Given the description of an element on the screen output the (x, y) to click on. 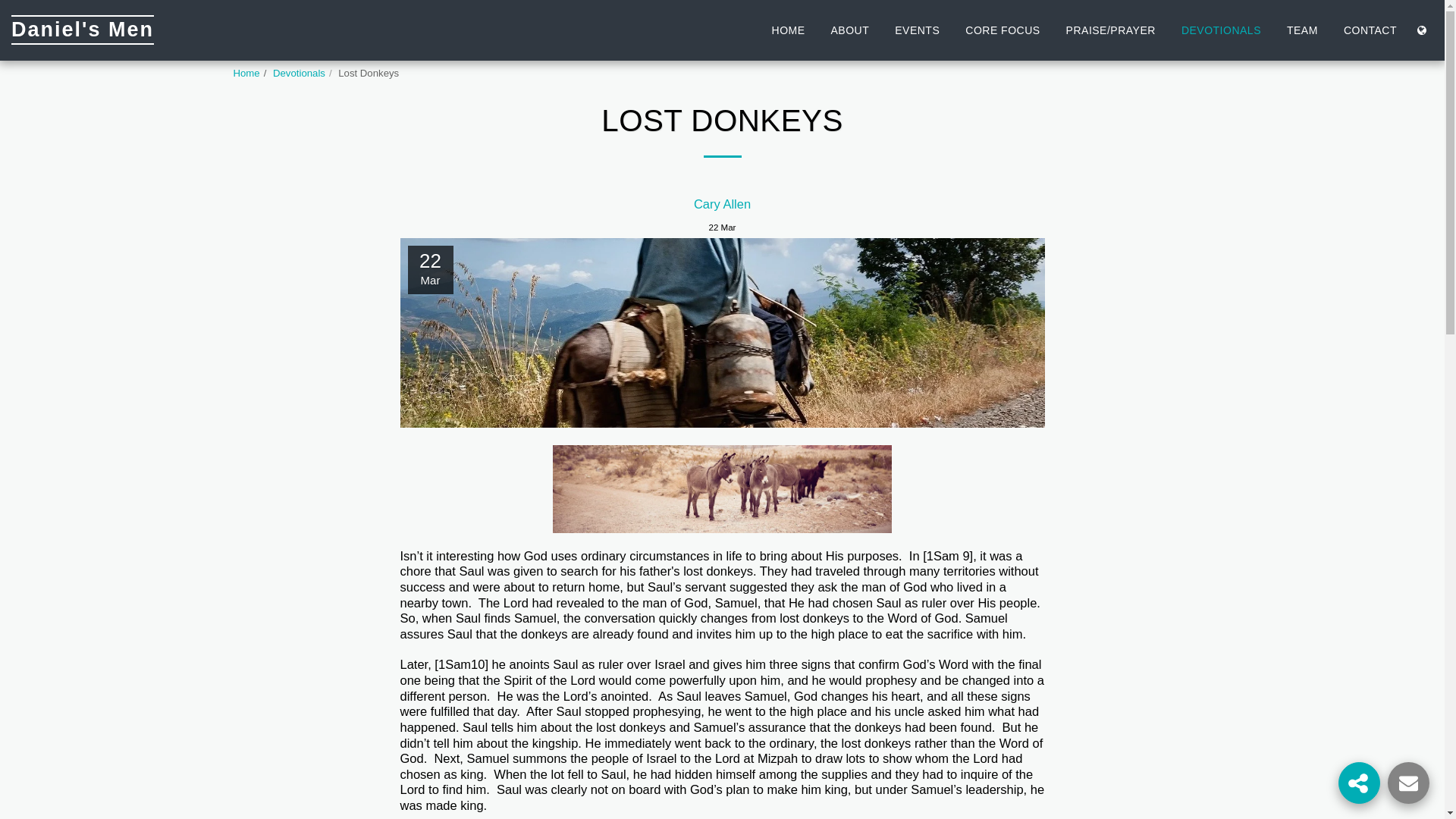
TEAM (1302, 29)
Daniel's Men (82, 30)
DEVOTIONALS (1221, 29)
ABOUT (849, 29)
Devotionals (298, 72)
EVENTS (916, 29)
HOME (788, 29)
Cary Allen (722, 204)
CONTACT (1369, 29)
CORE FOCUS (1002, 29)
Home (246, 72)
